Given the description of an element on the screen output the (x, y) to click on. 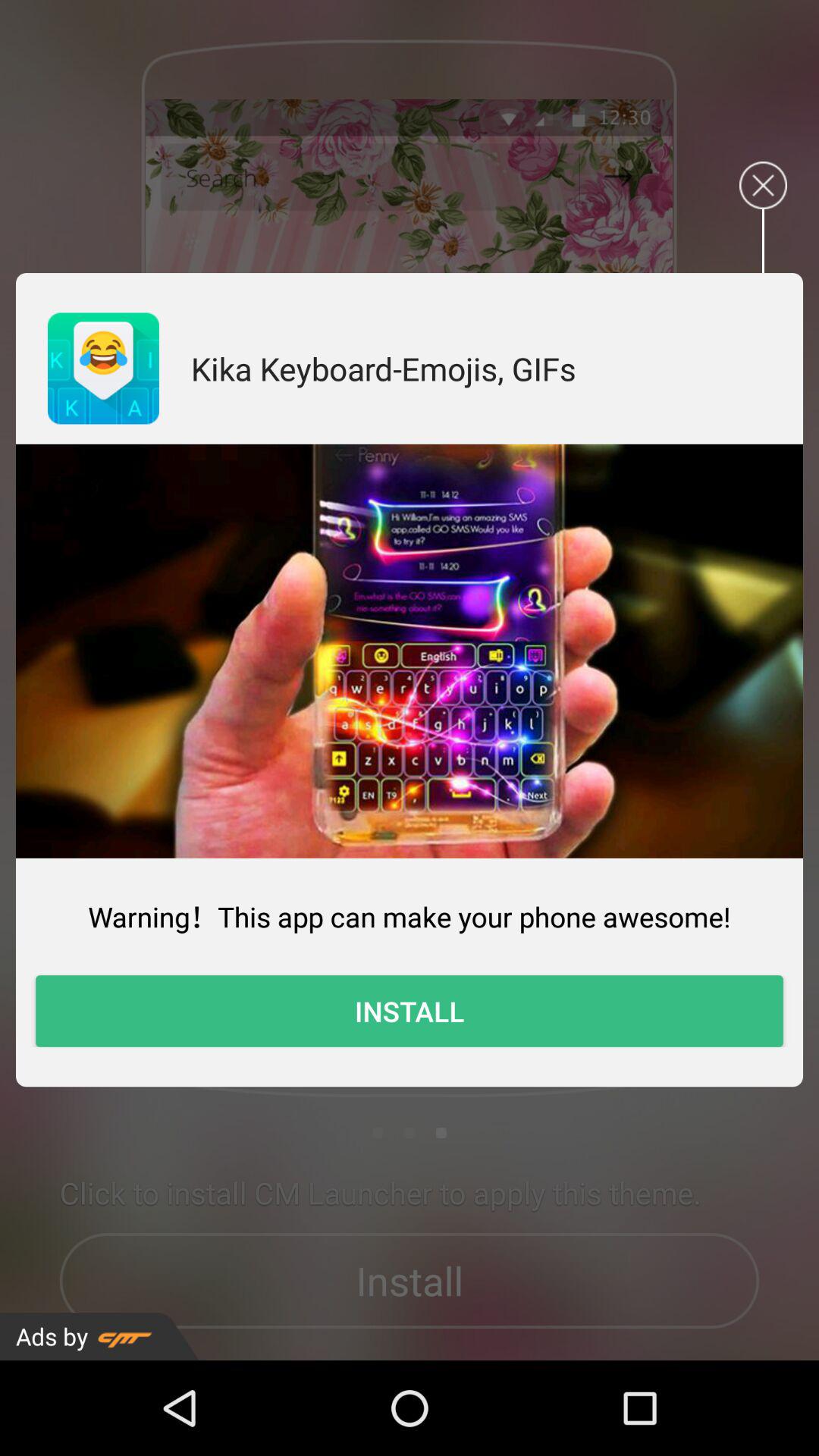
turn off the item at the top (383, 368)
